Given the description of an element on the screen output the (x, y) to click on. 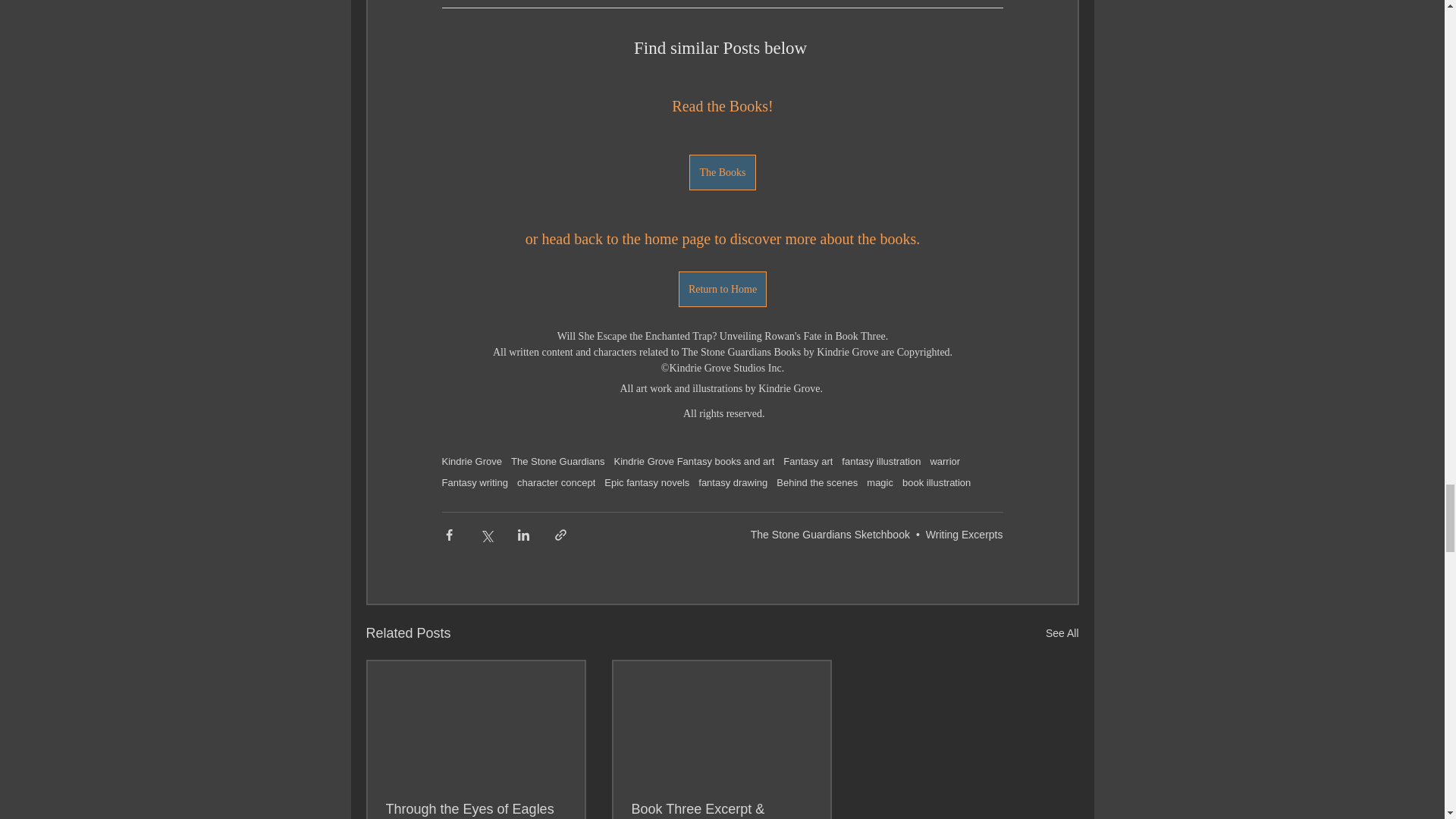
character concept (555, 482)
Kindrie Grove (470, 460)
Fantasy art (807, 460)
Return to Home (721, 289)
Epic fantasy novels (646, 482)
The Books (721, 172)
Kindrie Grove Fantasy books and art (694, 460)
The Stone Guardians (558, 460)
fantasy illustration (880, 460)
Fantasy writing (473, 482)
